Given the description of an element on the screen output the (x, y) to click on. 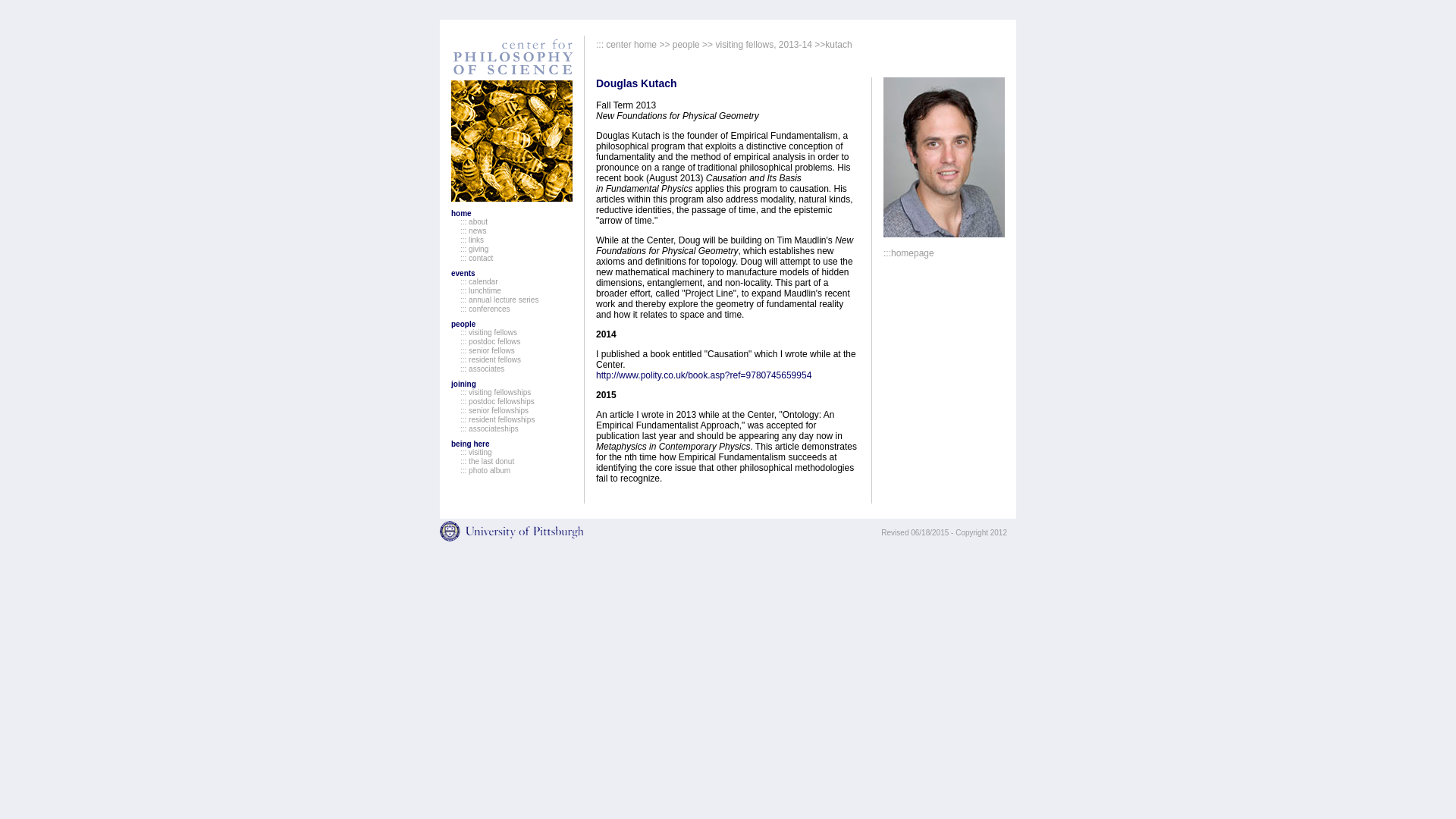
::: postdoc fellows (489, 341)
::: visiting (476, 451)
people (463, 324)
::: the last donut (486, 461)
people (686, 44)
::: annual lecture series (499, 299)
visiting fellows, 2013-14 (762, 44)
::: associateships (489, 429)
::: conferences (485, 308)
::: lunchtime (480, 290)
